Given the description of an element on the screen output the (x, y) to click on. 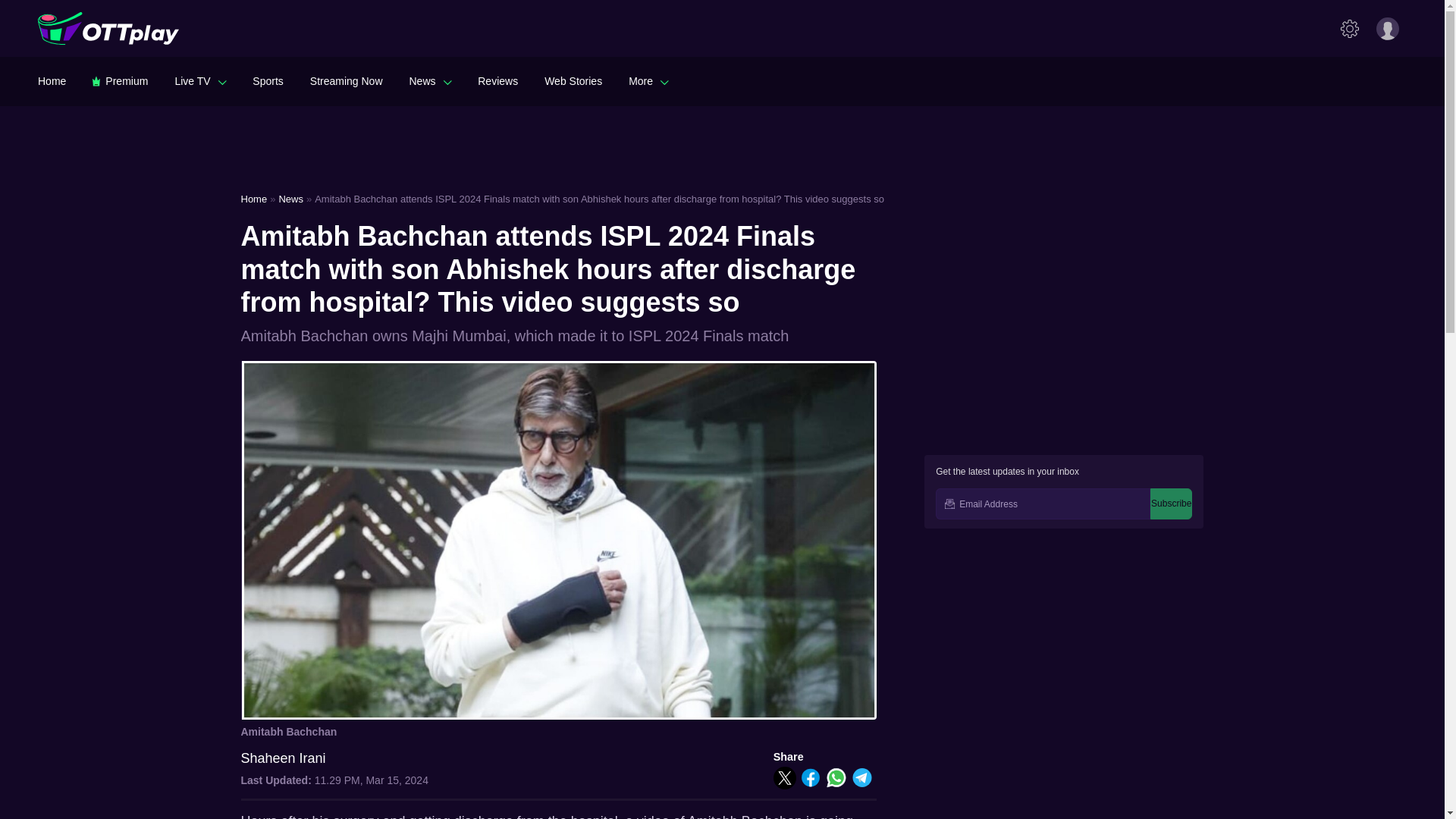
Streaming Now (346, 80)
News (430, 80)
Web Stories (573, 80)
Live TV (199, 80)
Premium (120, 80)
